Given the description of an element on the screen output the (x, y) to click on. 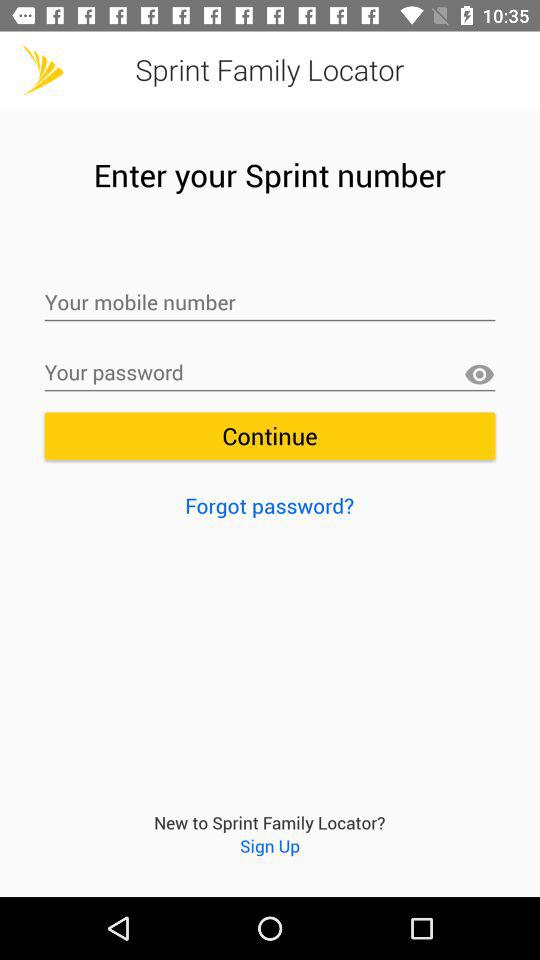
enter password (269, 373)
